Given the description of an element on the screen output the (x, y) to click on. 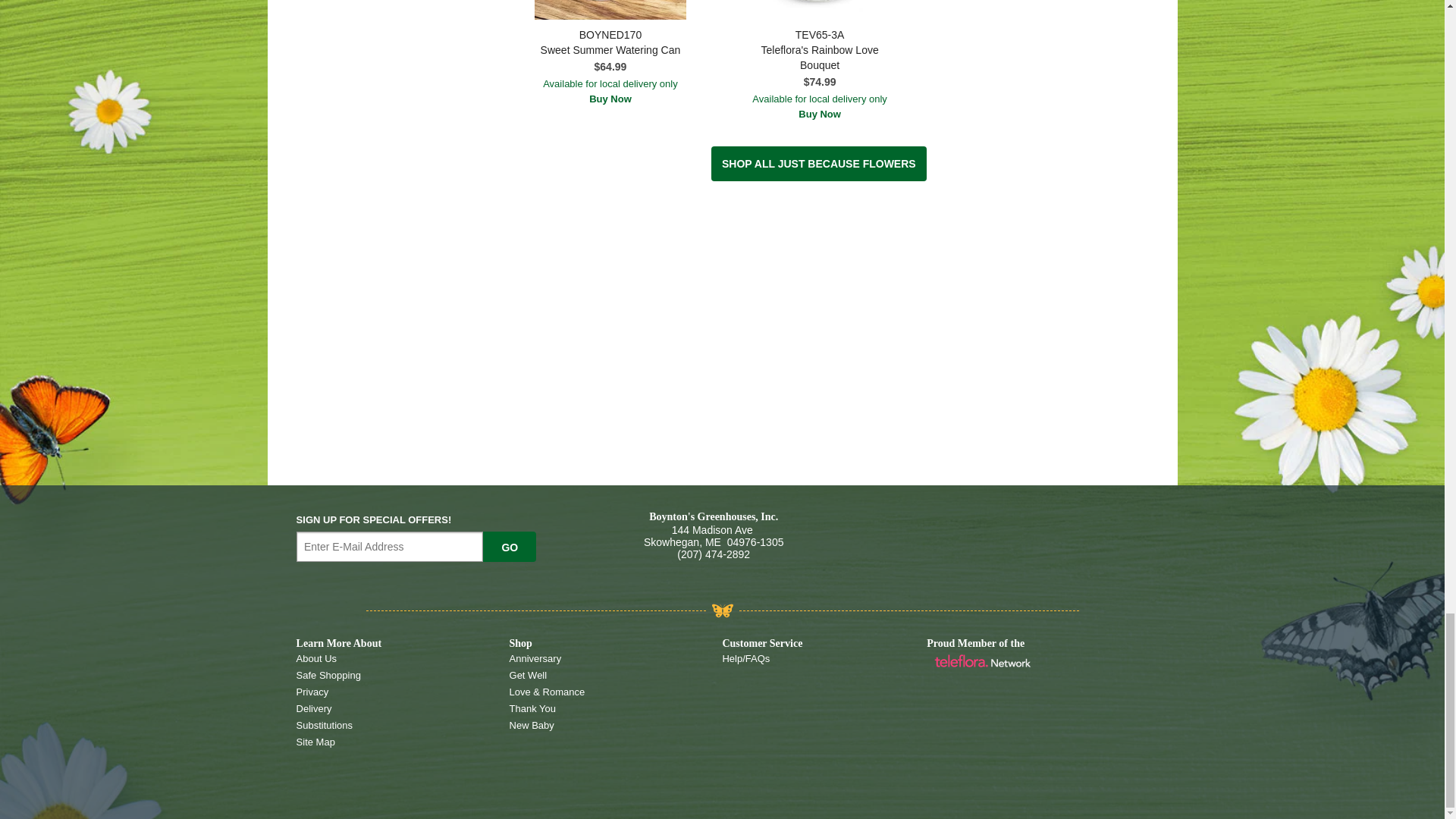
Go (509, 546)
go (509, 546)
Email Sign up (390, 546)
